Given the description of an element on the screen output the (x, y) to click on. 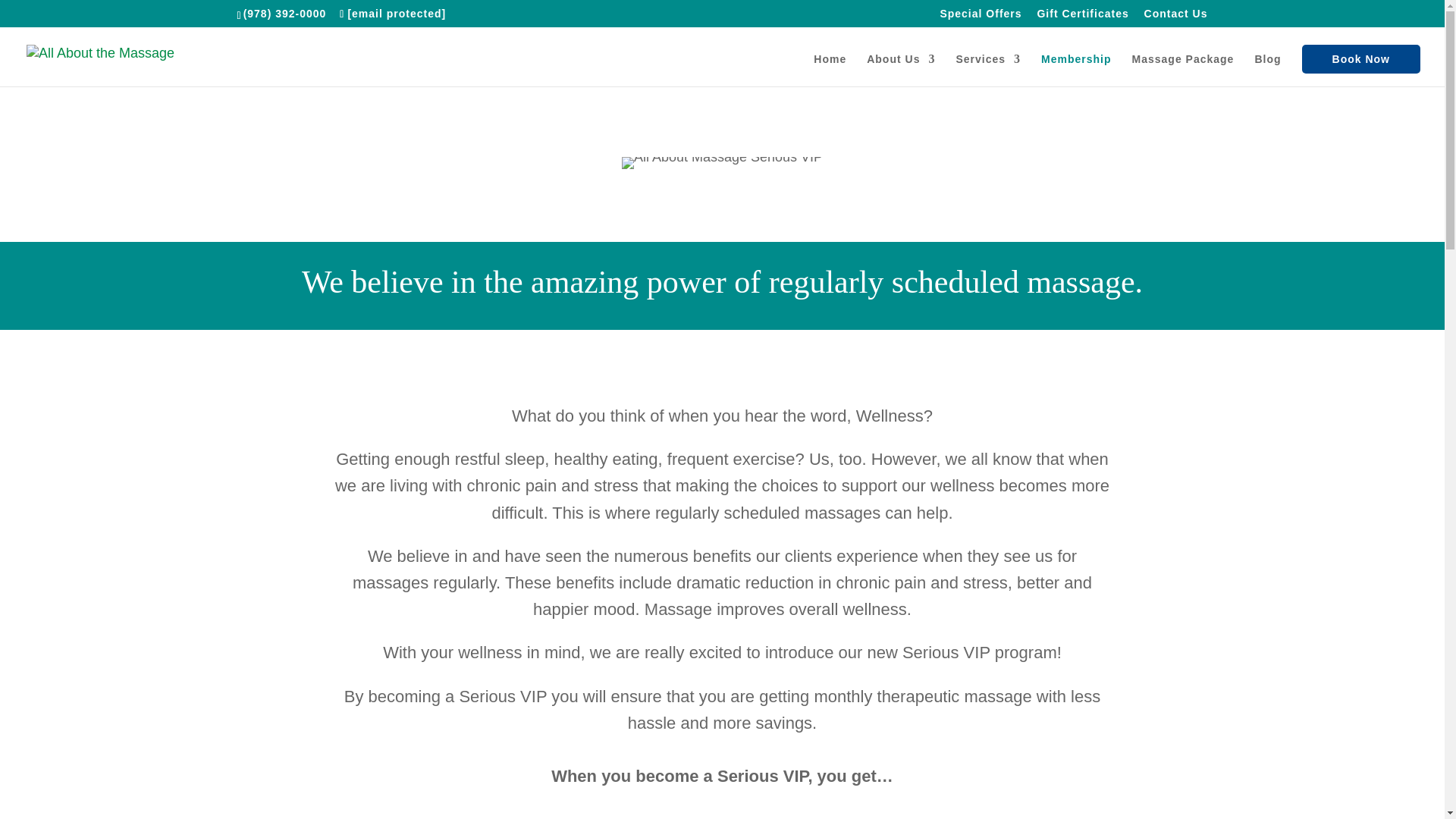
Membership (1075, 70)
Special Offers (980, 16)
About Us (900, 70)
All About Massage Serious VIP (721, 162)
Massage Package (1183, 70)
Contact Us (1176, 16)
Book Now (1361, 59)
Home (829, 70)
Gift Certificates (1082, 16)
Services (987, 70)
